Given the description of an element on the screen output the (x, y) to click on. 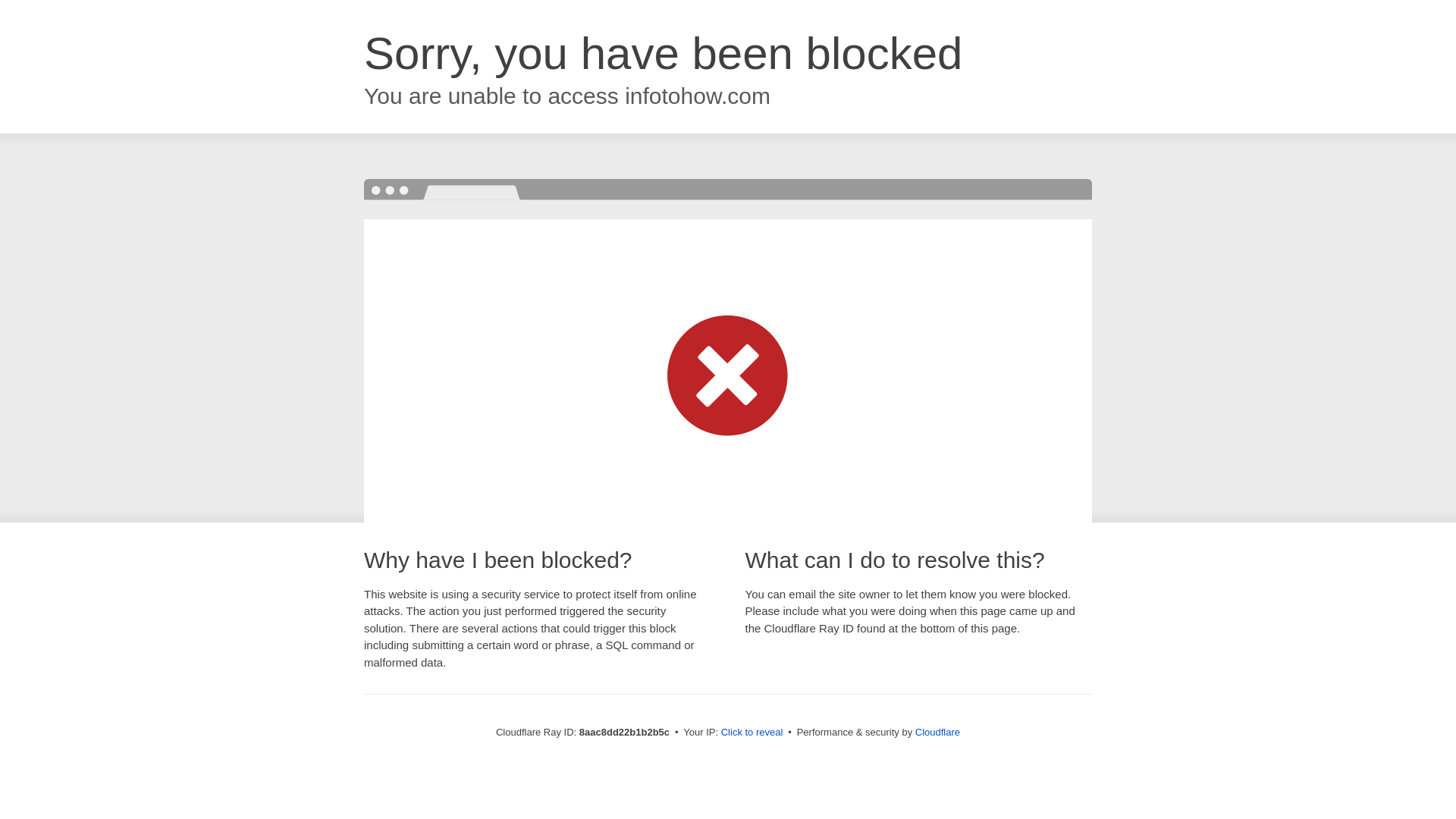
Click to reveal (751, 732)
Cloudflare (937, 731)
